Given the description of an element on the screen output the (x, y) to click on. 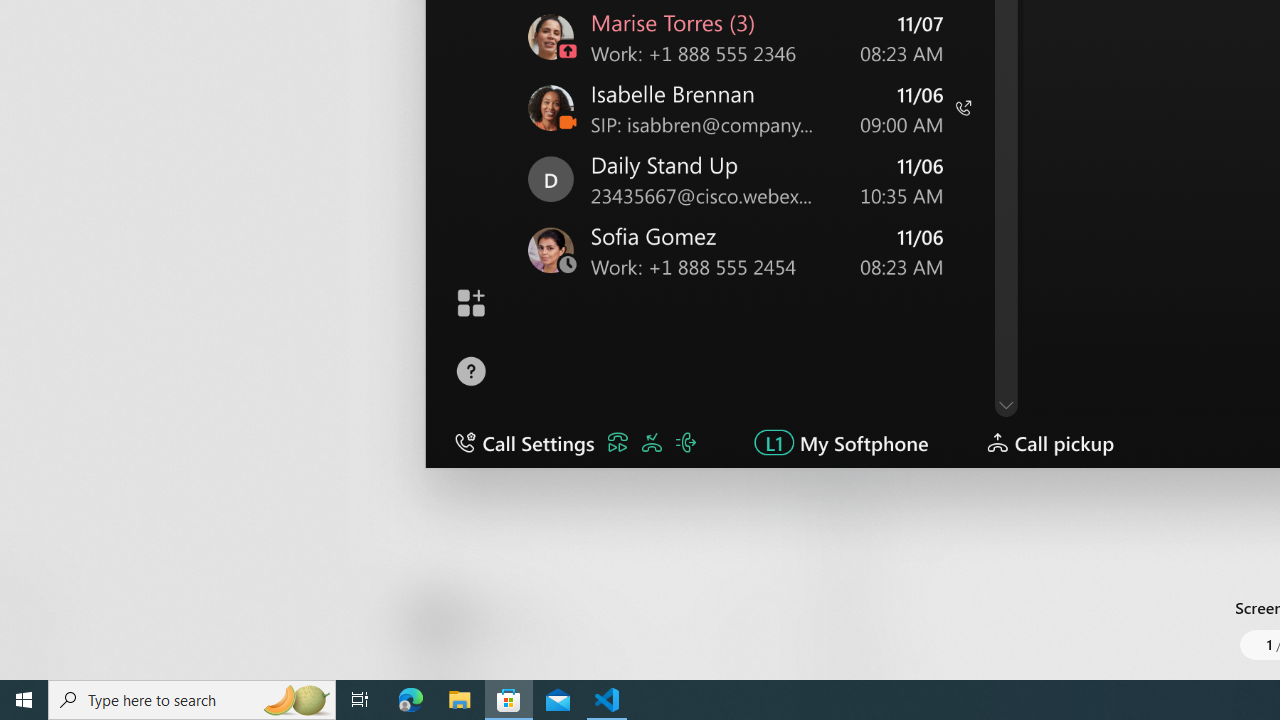
Age rating: EVERYONE. Click for more information. (506, 619)
Show all ratings and reviews (838, 441)
Sign in to review (882, 256)
Productivity (579, 30)
Share (746, 632)
